Given the description of an element on the screen output the (x, y) to click on. 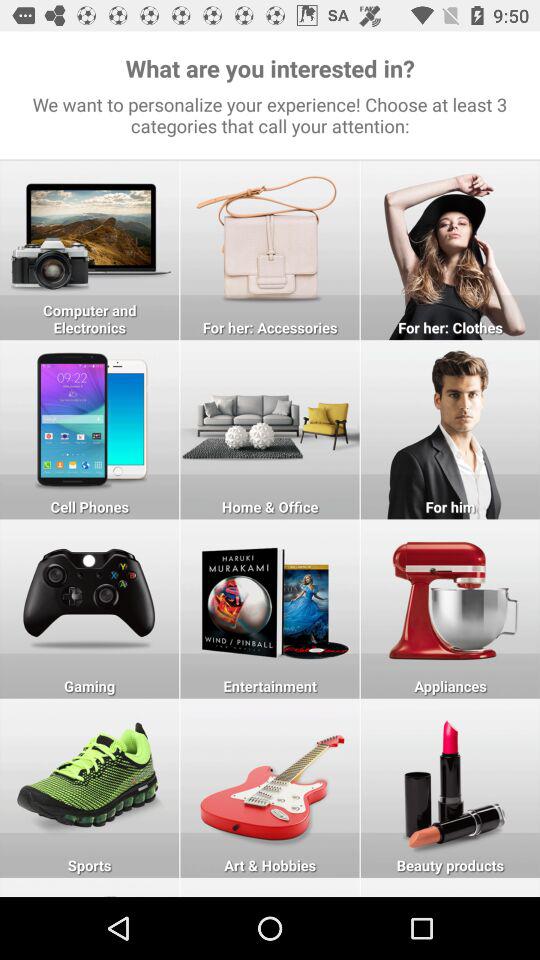
botton lineto go more (89, 887)
